Given the description of an element on the screen output the (x, y) to click on. 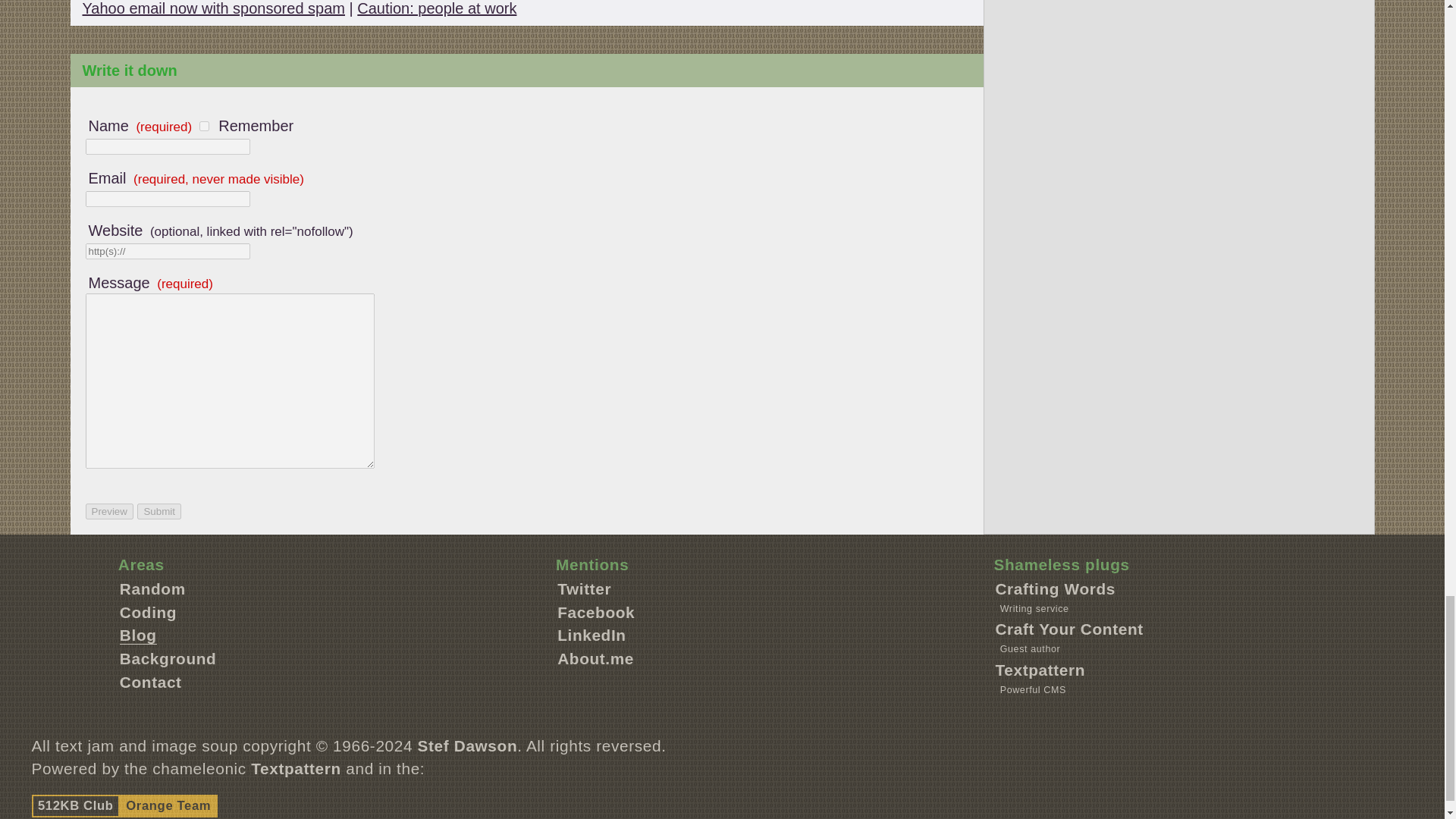
Stef Dawson (467, 745)
Preview (108, 511)
Caution: people at work (436, 8)
Twitter (584, 588)
Submit (158, 511)
Crafting Words (1054, 588)
Coding (147, 611)
Textpattern (295, 768)
Submit (158, 511)
Craft Your Content (1068, 628)
